Given the description of an element on the screen output the (x, y) to click on. 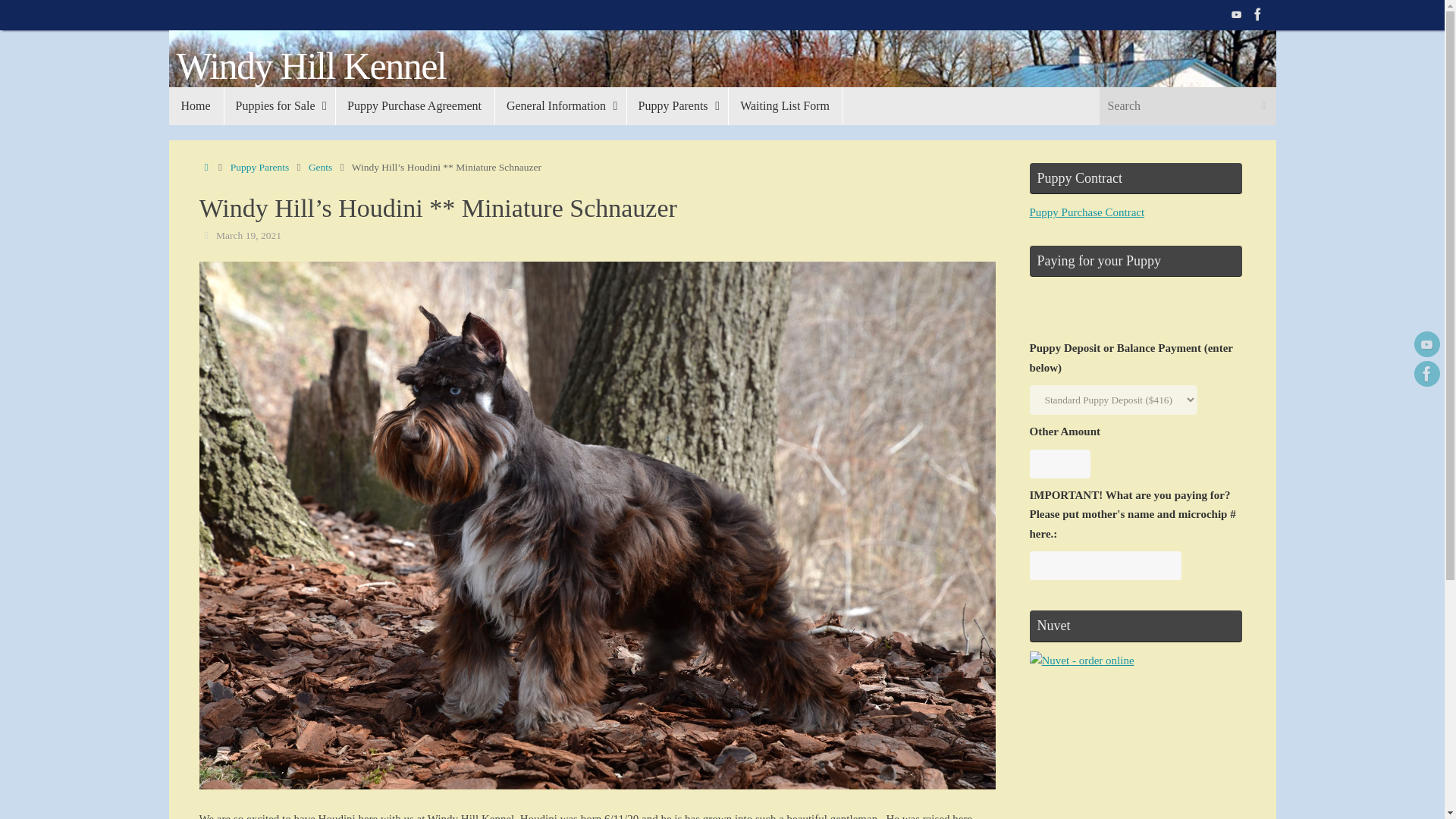
Puppy Purchase Agreement (414, 105)
Home (195, 105)
Facebook (1426, 373)
Windy Hill Kennel (310, 65)
Puppy Purchase Contract (1086, 212)
March 19, 2021 (248, 235)
General Information (560, 105)
Puppy Parents (677, 105)
Youtube (1426, 344)
Date (205, 235)
Puppy Parents (259, 166)
Windy Hill Kennel (310, 65)
Youtube (1235, 14)
Home (205, 166)
